Given the description of an element on the screen output the (x, y) to click on. 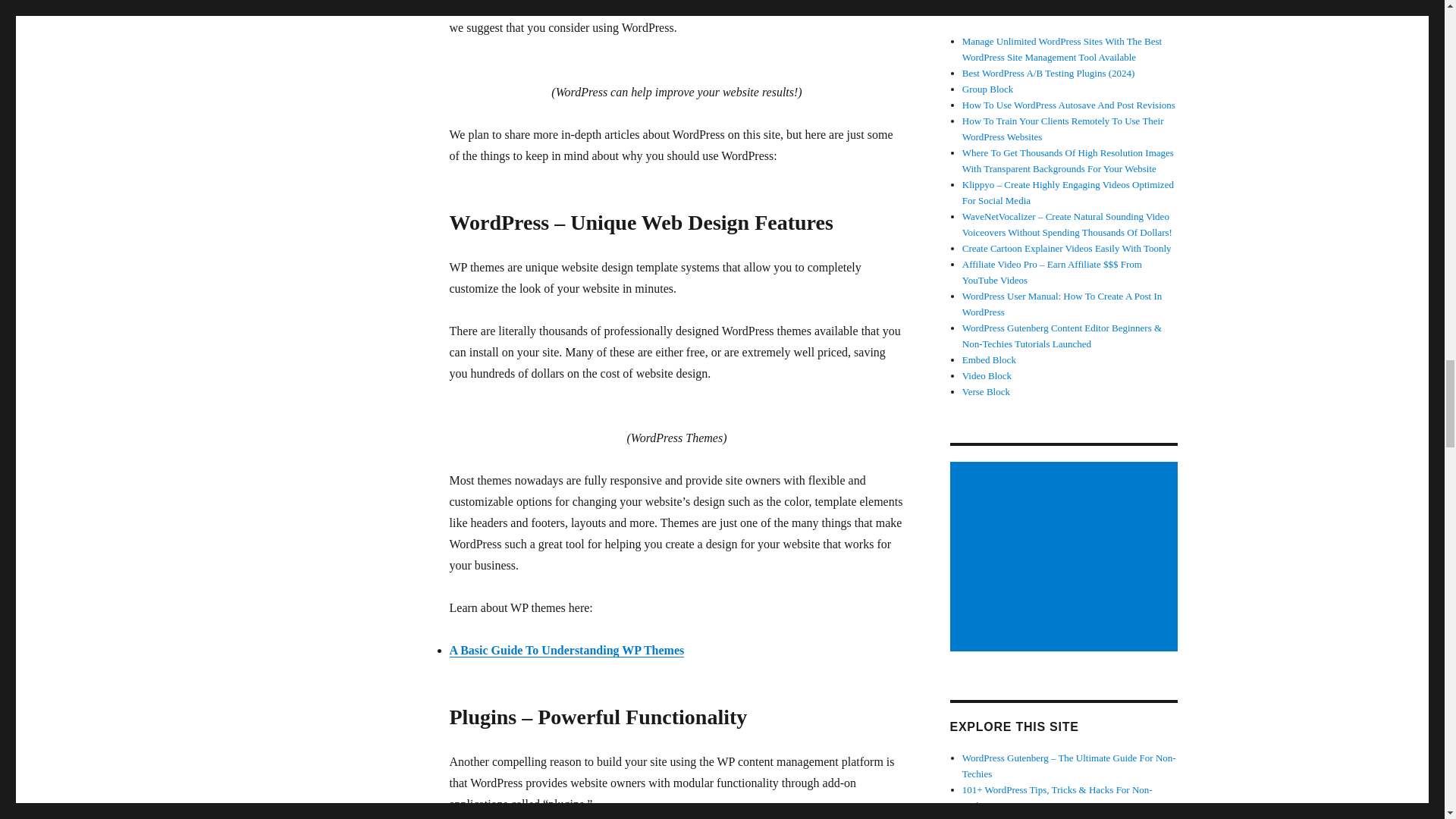
A Basic Guide To Understanding WP Themes (566, 649)
